Given the description of an element on the screen output the (x, y) to click on. 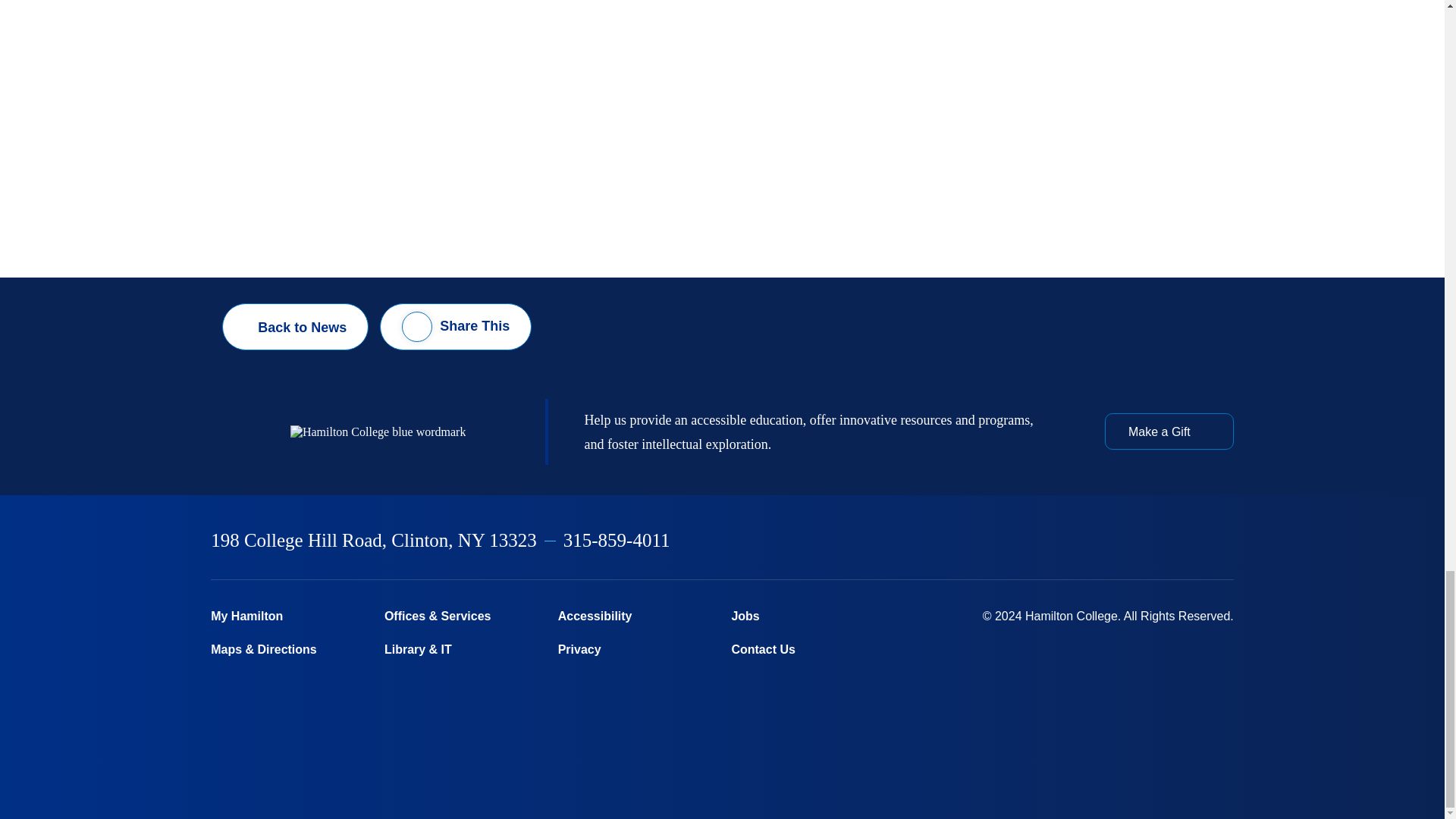
TikTok (1226, 540)
Linkedin (1149, 540)
Make a Gift (1169, 431)
198 College Hill Road, Clinton, NY 13323 (373, 540)
Facebook (1029, 540)
Youtube (1188, 541)
Instagram (1109, 540)
315-859-4011 (617, 540)
Back to News (295, 326)
Twitter (1069, 540)
